Given the description of an element on the screen output the (x, y) to click on. 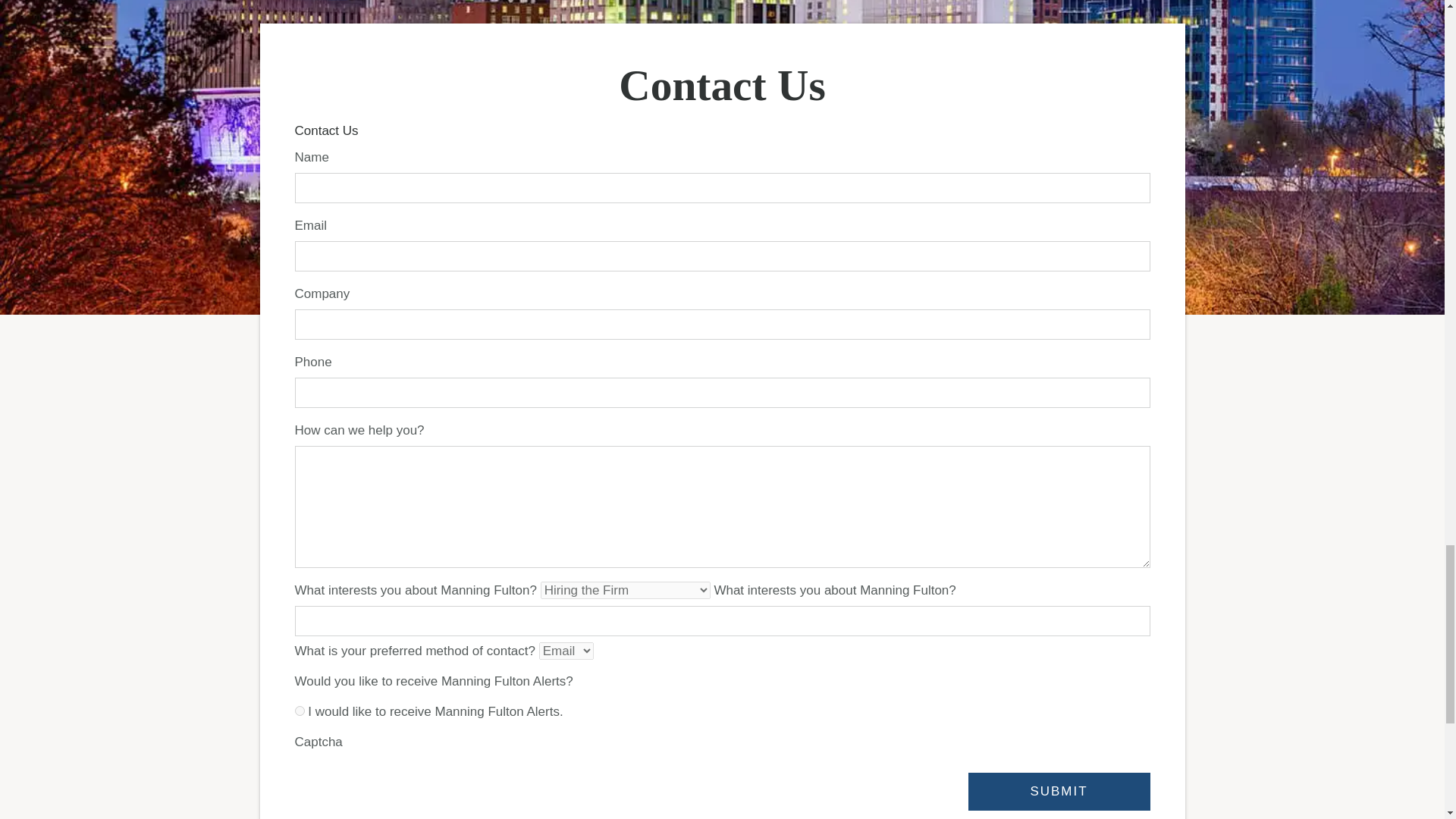
I would like to receive Manning Fulton Alerts. (299, 710)
